Given the description of an element on the screen output the (x, y) to click on. 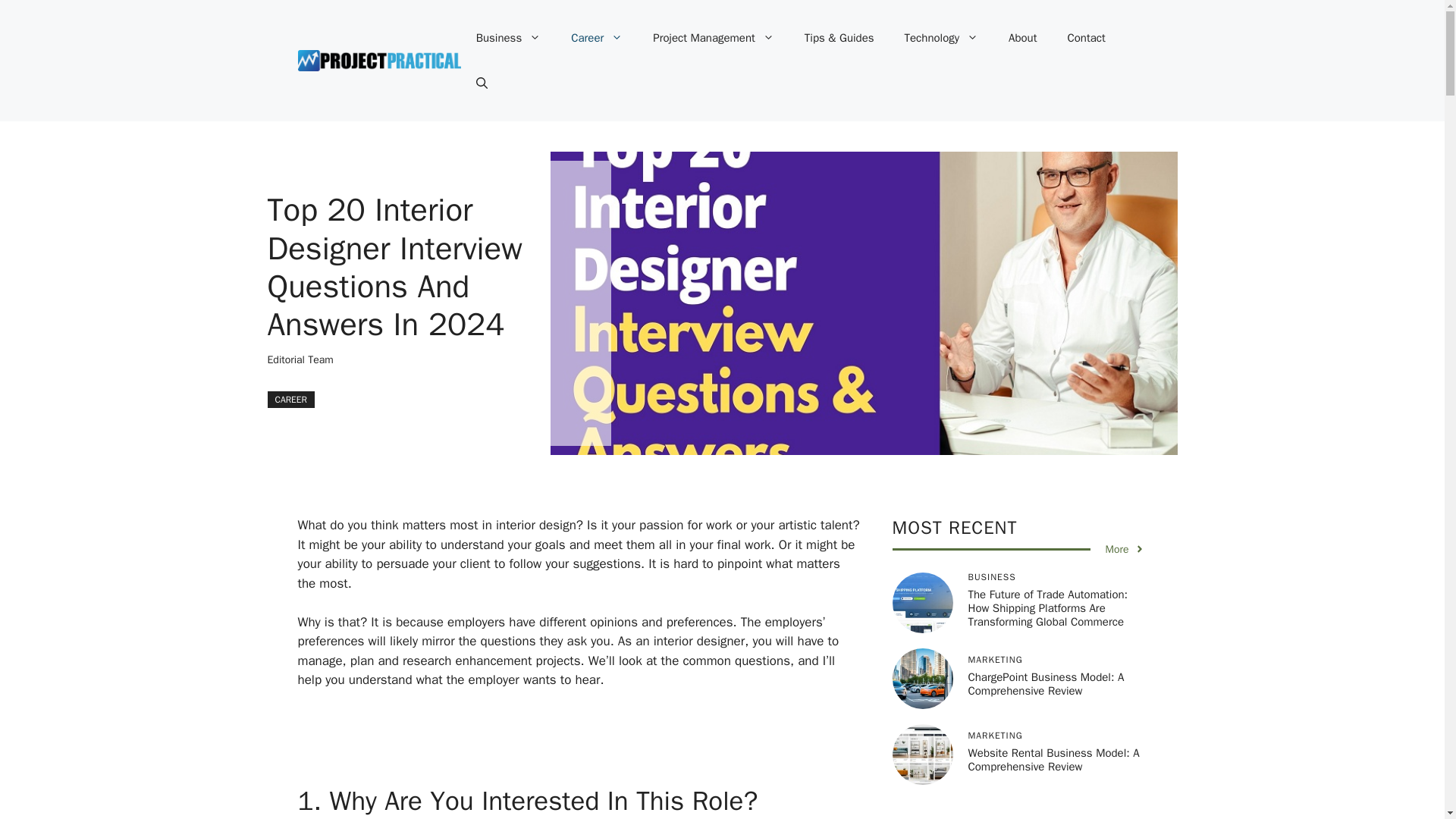
CAREER (290, 399)
Project Management (713, 37)
Website Rental Business Model: A Comprehensive Review (1053, 759)
Business (508, 37)
Contact (1086, 37)
ChargePoint Business Model: A Comprehensive Review (1046, 683)
About (1021, 37)
More (1124, 549)
Technology (941, 37)
Career (596, 37)
